Given the description of an element on the screen output the (x, y) to click on. 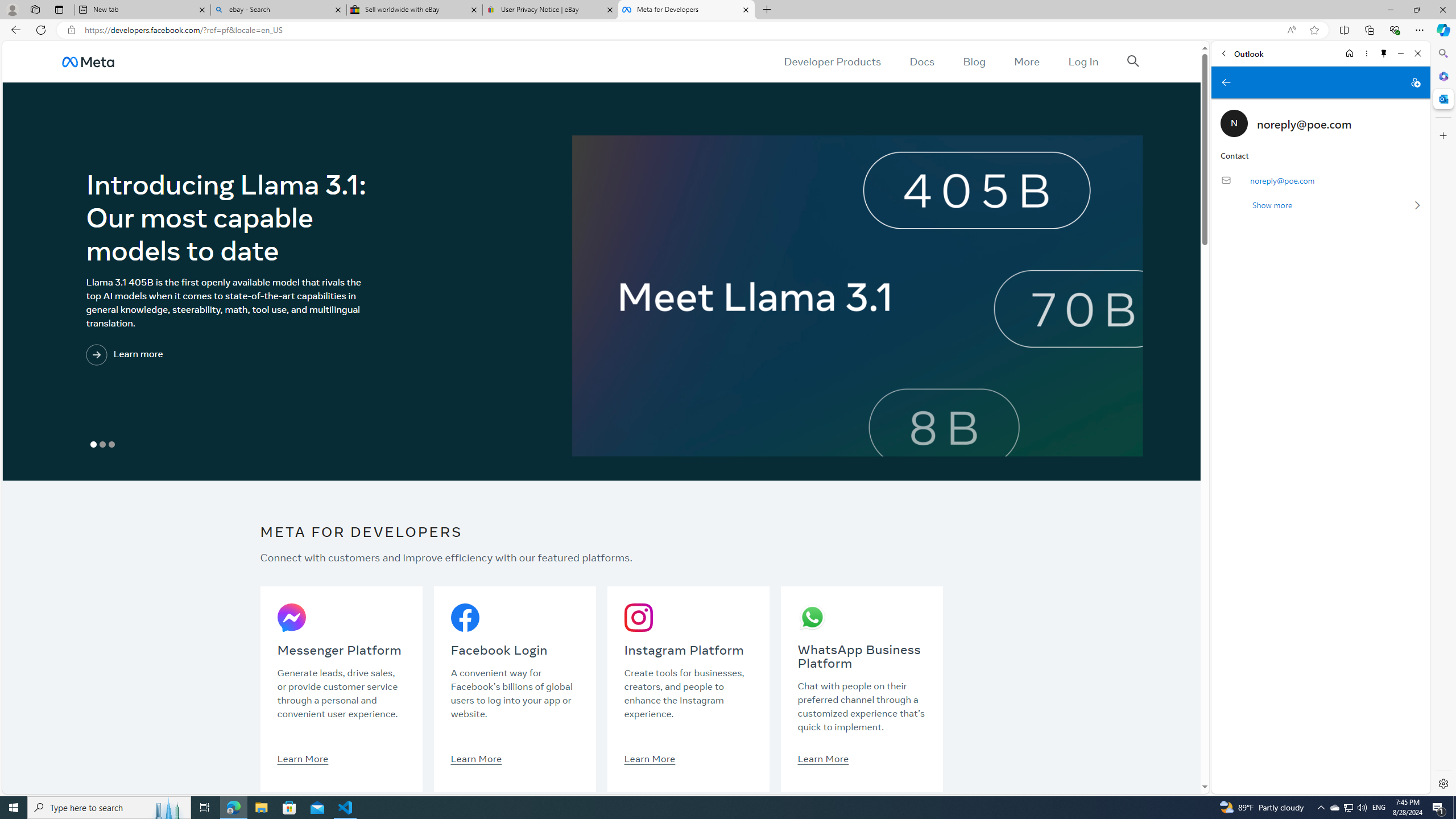
Learn More (822, 758)
Docs (922, 61)
Sell worldwide with eBay (414, 9)
Show Slide 2 (102, 444)
Blog (974, 61)
More (1027, 61)
Settings (1442, 783)
Docs (922, 61)
Blog (974, 61)
Unpin side pane (1383, 53)
Meta for Developers (685, 9)
